Given the description of an element on the screen output the (x, y) to click on. 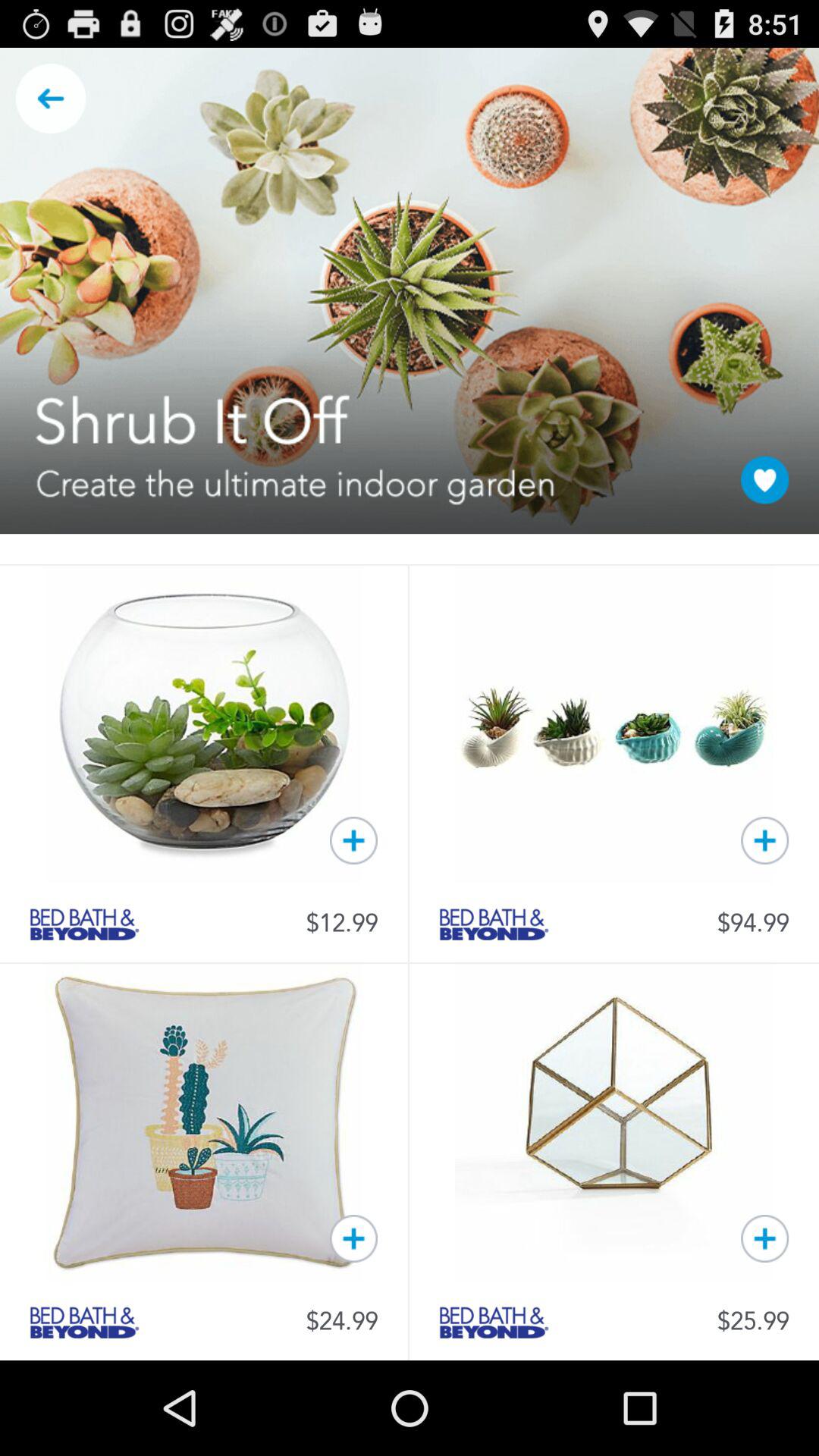
favorite this page (764, 479)
